Given the description of an element on the screen output the (x, y) to click on. 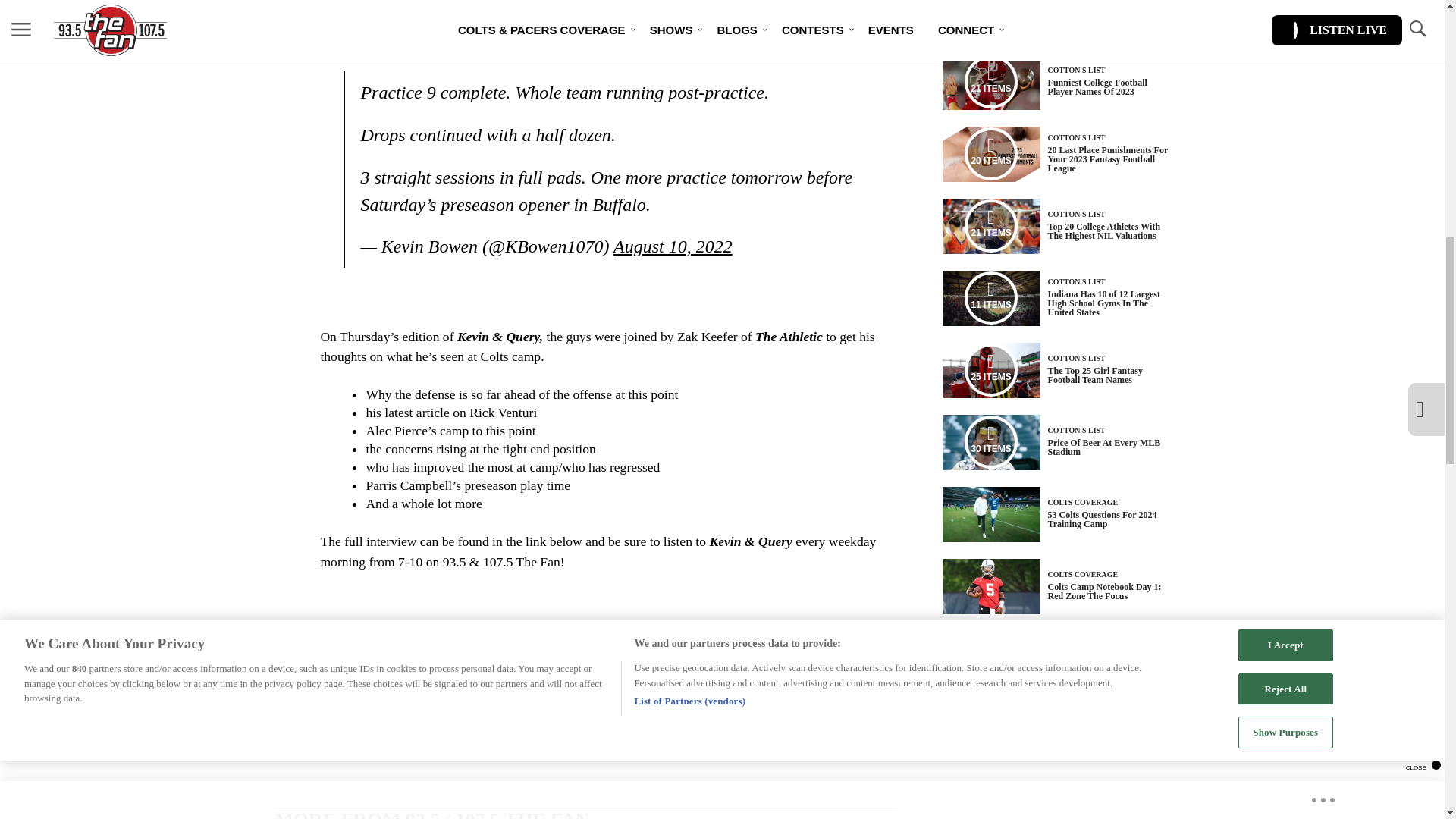
Media Playlist (990, 225)
Media Playlist (990, 81)
Media Playlist (990, 369)
Media Playlist (990, 297)
Media Playlist (990, 441)
Media Playlist (990, 153)
